Given the description of an element on the screen output the (x, y) to click on. 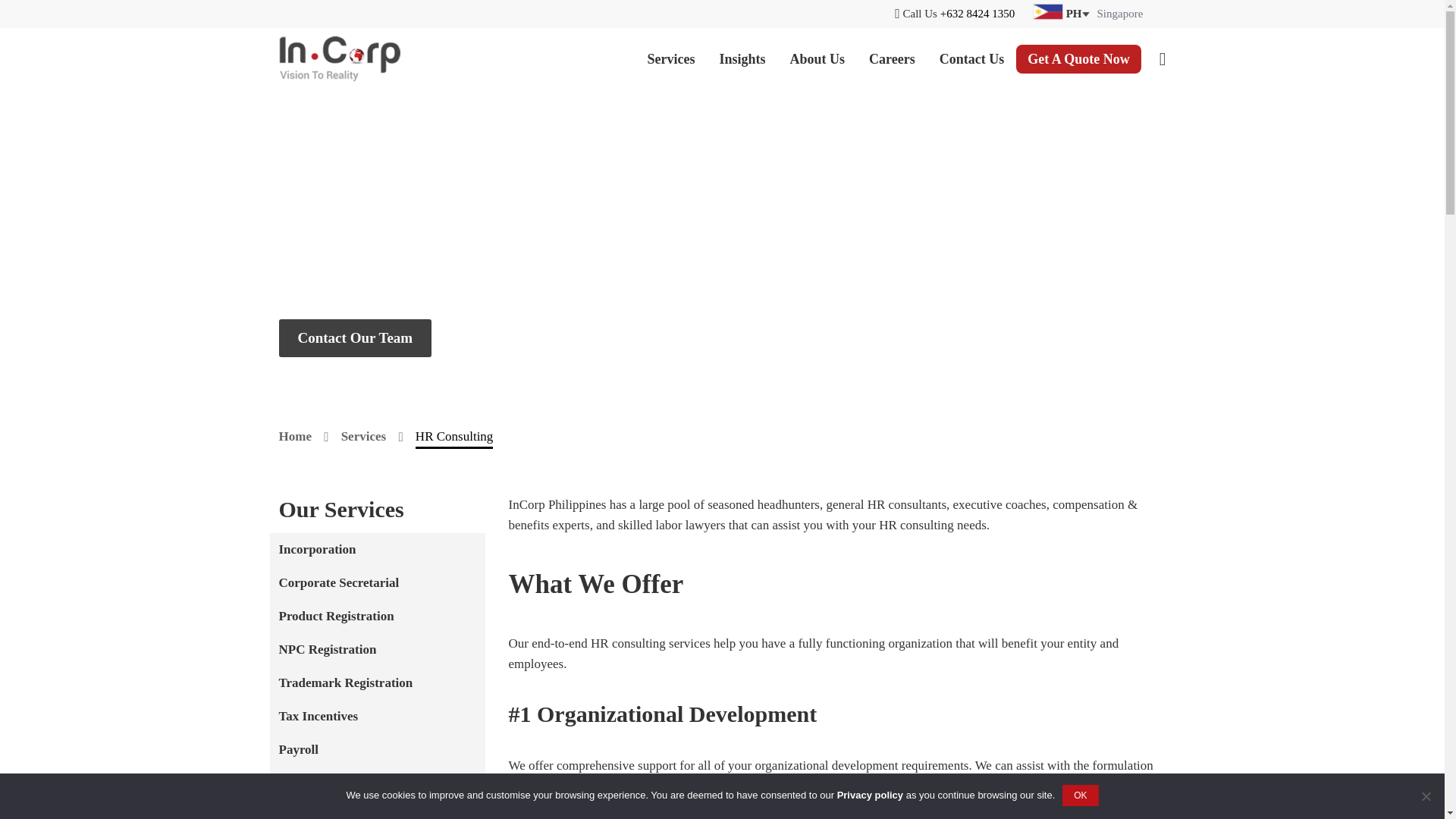
Contact Our Team (355, 338)
Services (670, 58)
Careers (892, 58)
Contact Us (971, 58)
InCorp Philippines Logo (339, 59)
Insights (742, 58)
About Us (817, 58)
Get A Quote Now (1078, 59)
